Given the description of an element on the screen output the (x, y) to click on. 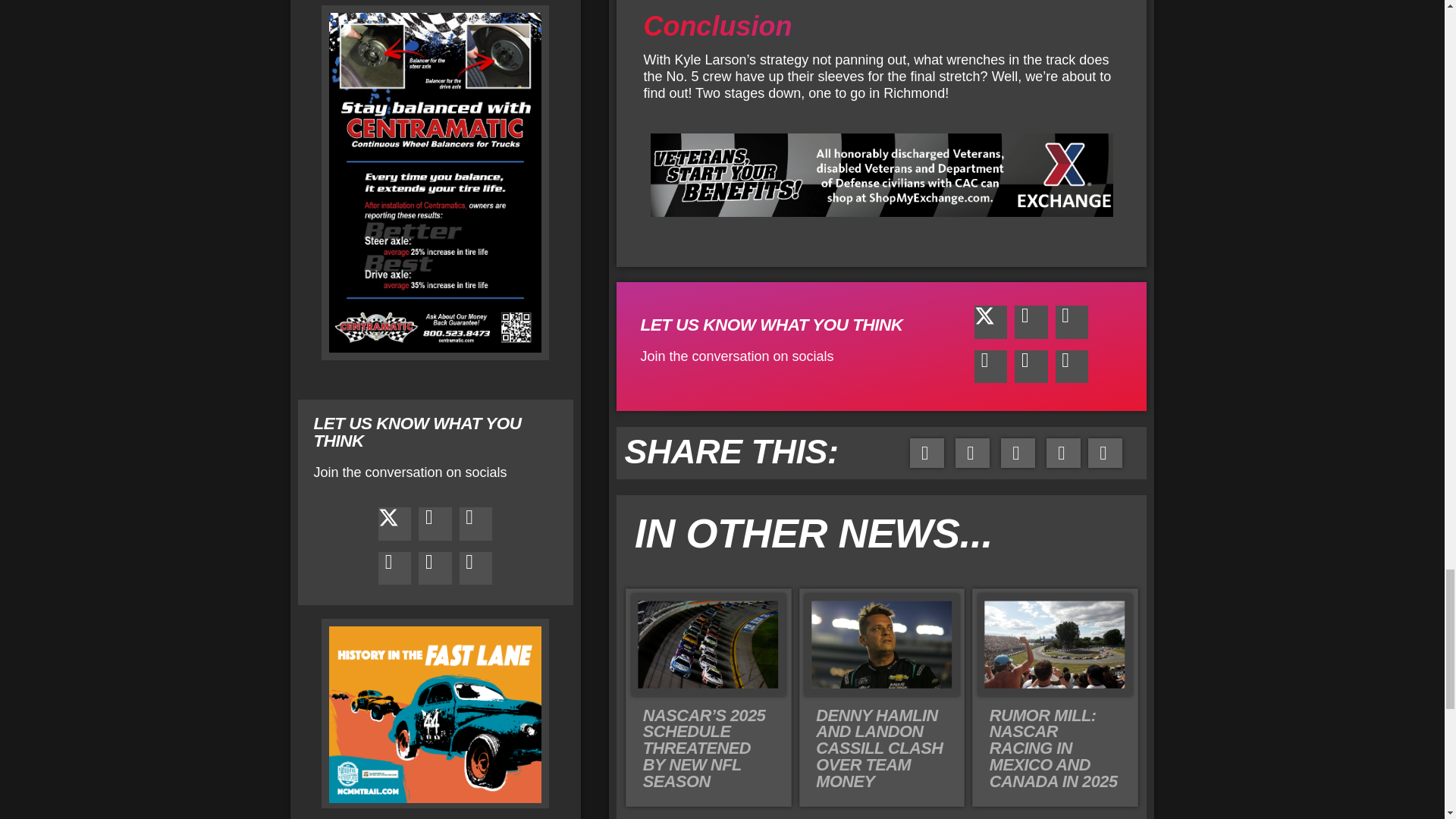
Denny Hamlin and Landon Cassill Clash Over Team Money (878, 748)
Rumor Mill: NASCAR Racing in Mexico AND Canada in 2025 (1054, 748)
